Given the description of an element on the screen output the (x, y) to click on. 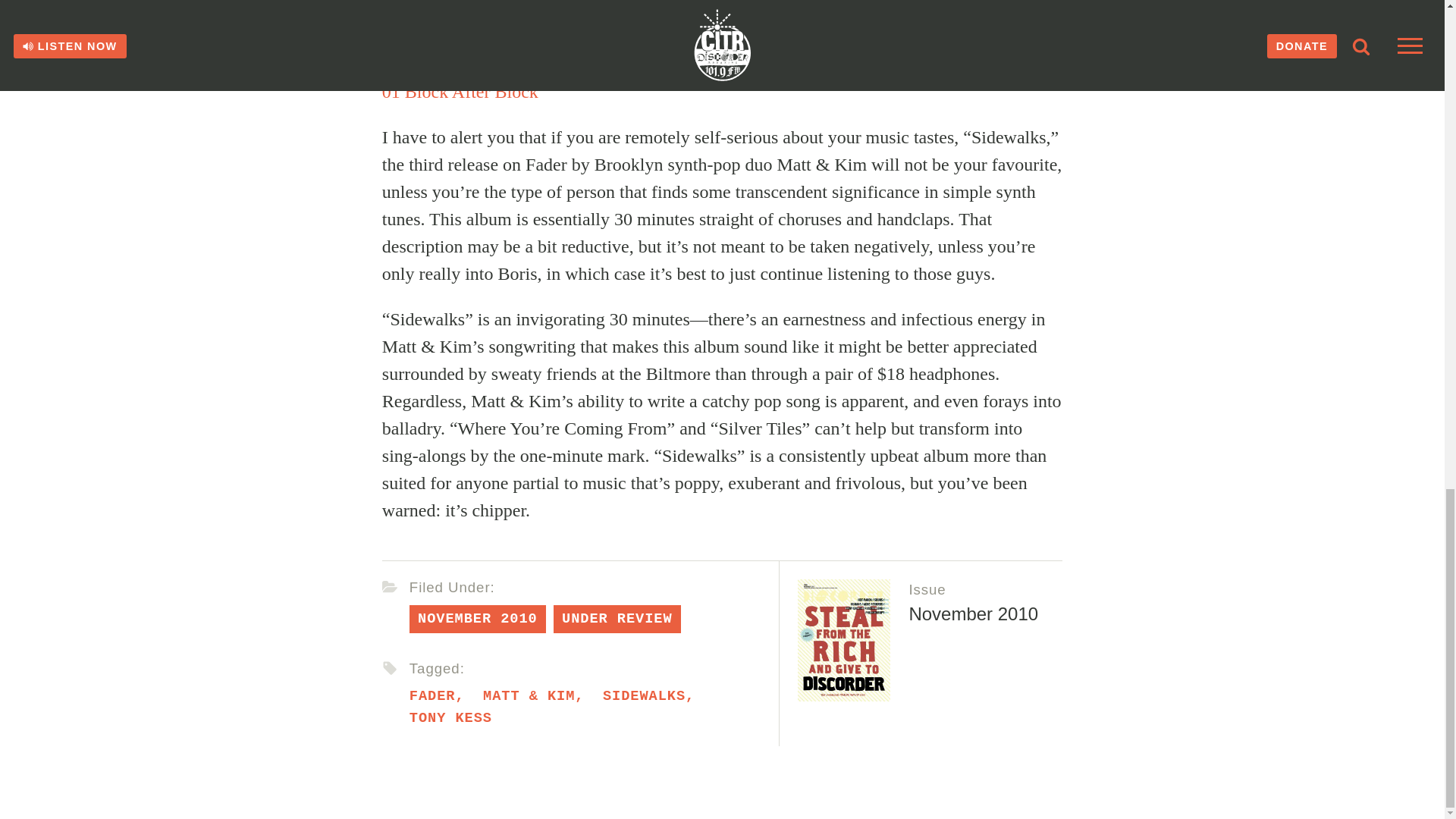
TONY KESS (450, 717)
FADER (432, 695)
SIDEWALKS (643, 695)
November 2010 (973, 613)
NOVEMBER 2010 (477, 619)
01 Block After Block (459, 91)
UNDER REVIEW (617, 619)
